Given the description of an element on the screen output the (x, y) to click on. 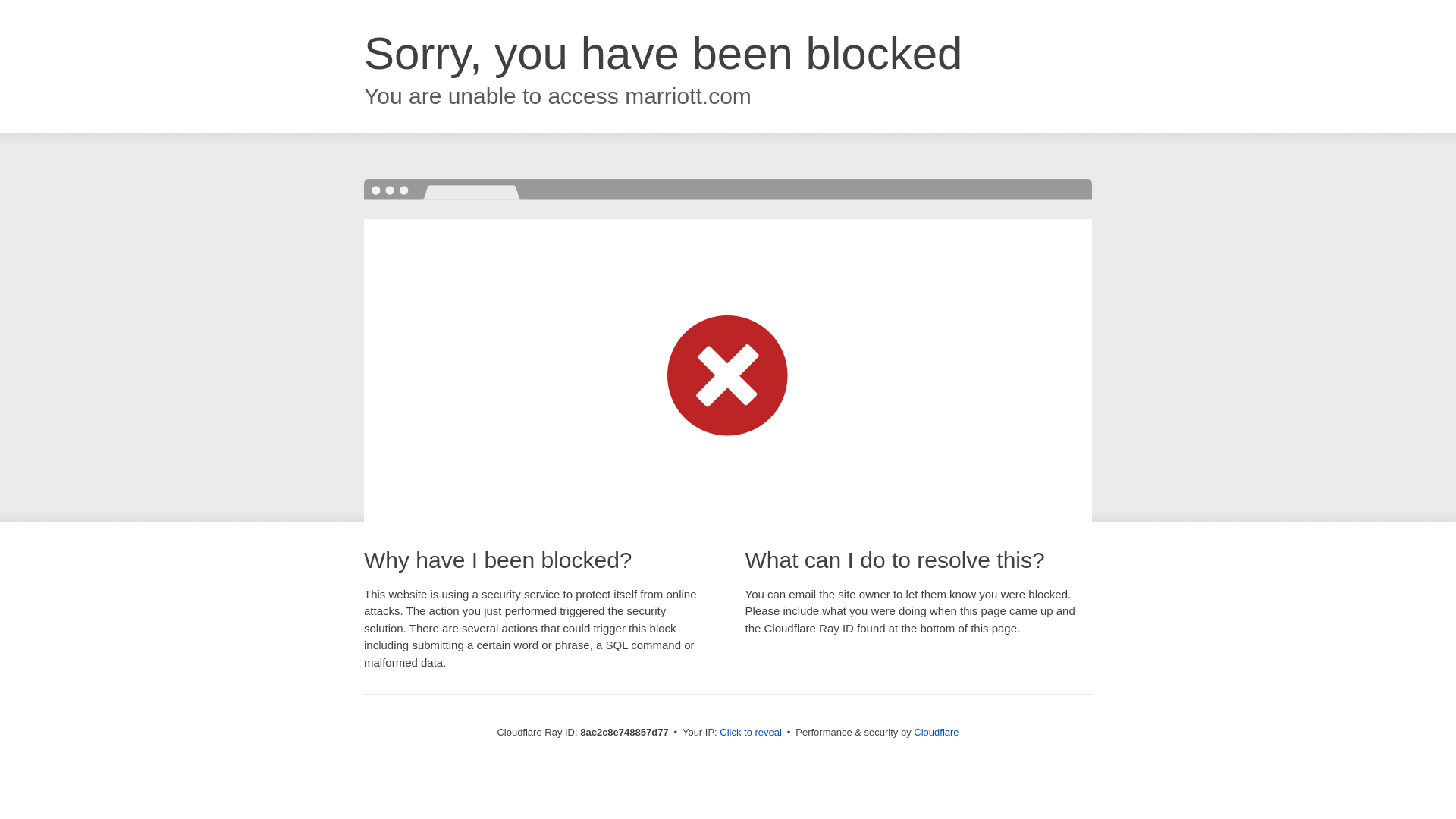
Click to reveal (750, 732)
Cloudflare (936, 731)
